Given the description of an element on the screen output the (x, y) to click on. 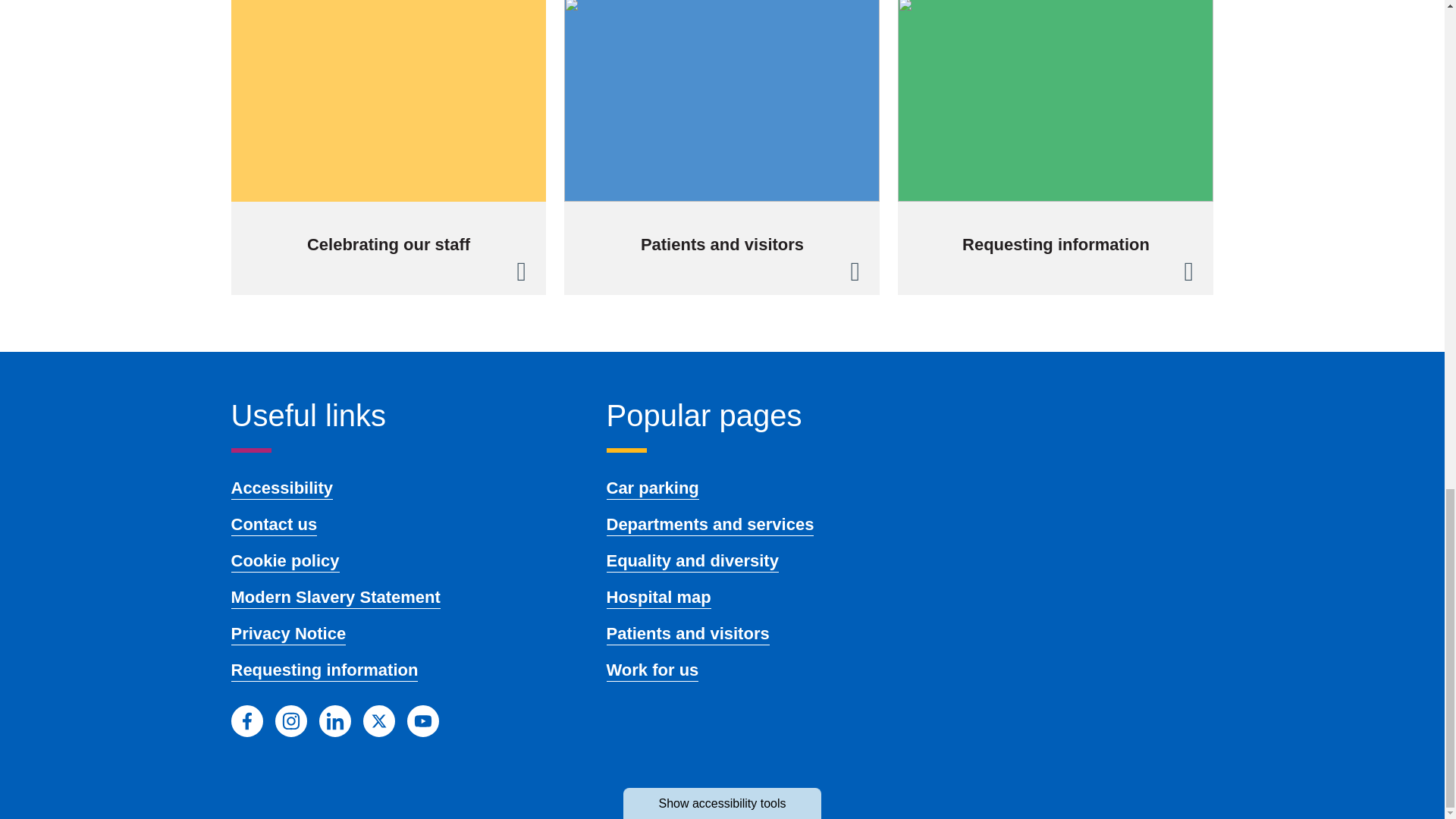
Instagram (290, 721)
LinkedIn (334, 721)
Patients and visitors (721, 147)
Celebrating our staff (388, 147)
X (378, 721)
Facebook (246, 721)
Youtube (422, 721)
Requesting information (1055, 147)
